Given the description of an element on the screen output the (x, y) to click on. 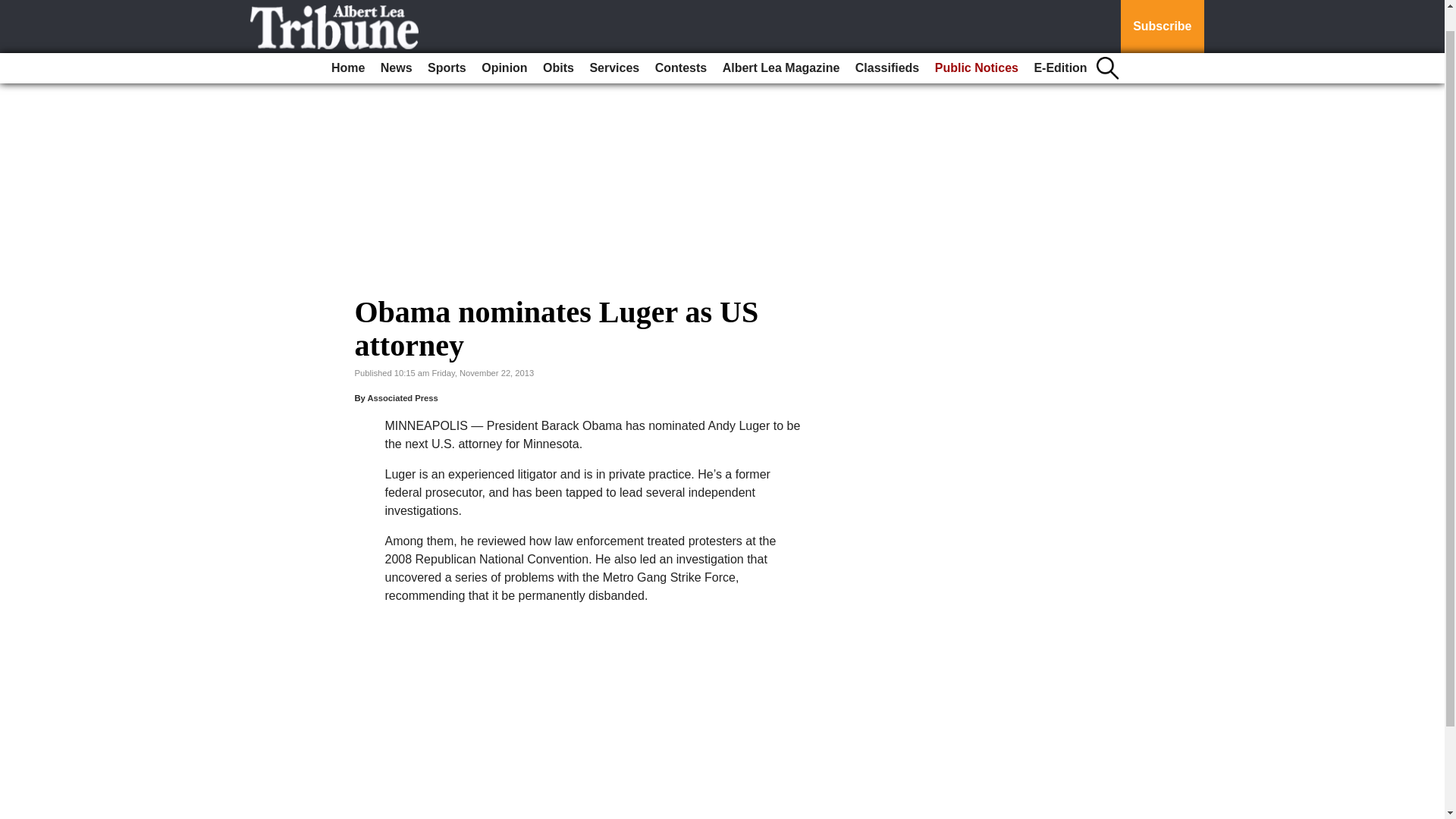
News (396, 44)
Services (614, 44)
Obits (558, 44)
Opinion (504, 44)
Home (347, 44)
Subscribe (1162, 14)
Sports (446, 44)
